Given the description of an element on the screen output the (x, y) to click on. 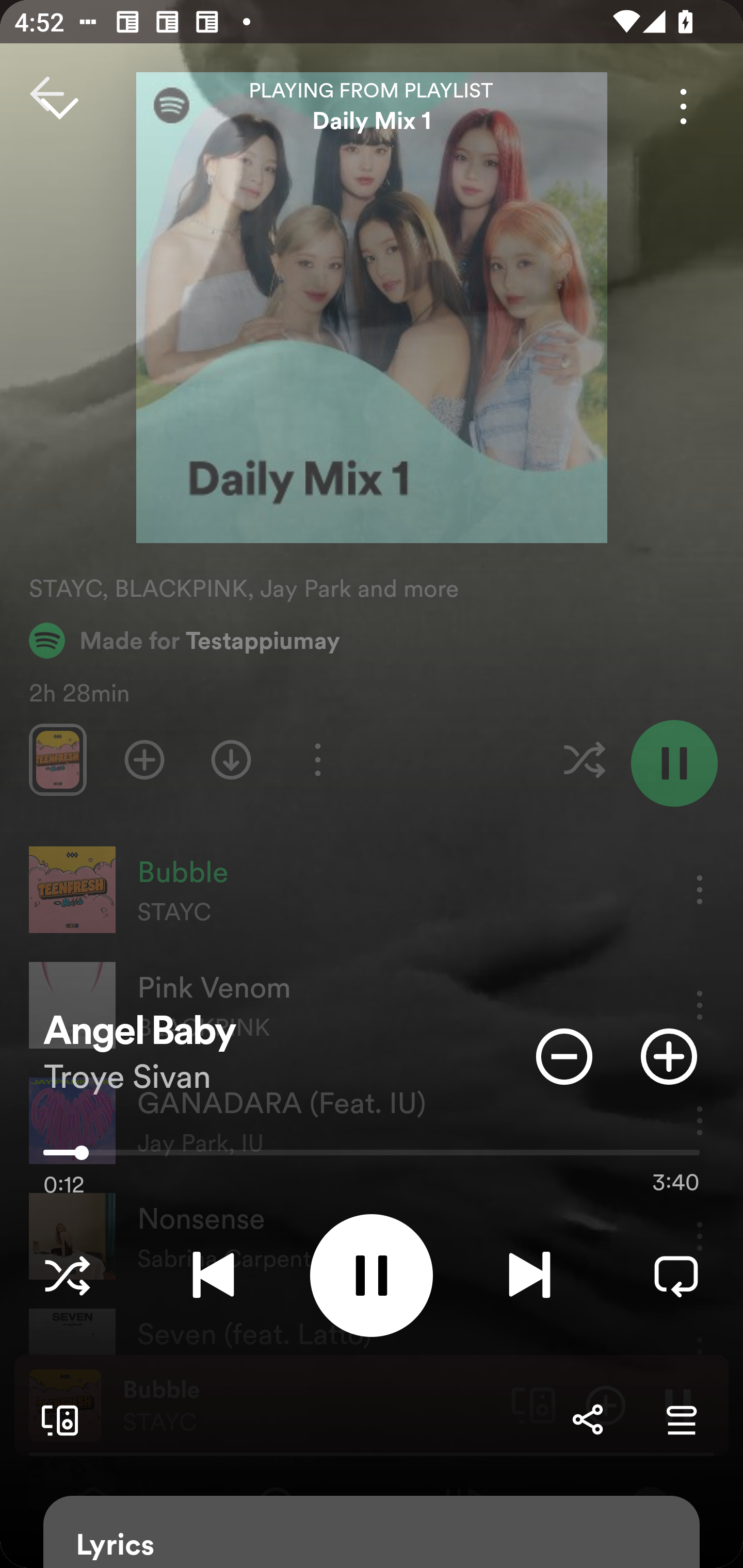
Close (59, 106)
More options for song Angel Baby (683, 106)
PLAYING FROM PLAYLIST Daily Mix 1 (371, 106)
Don't play this (564, 1056)
Add item (669, 1056)
0:12 3:40 12395.0 Use volume keys to adjust (371, 1157)
Pause (371, 1275)
Previous (212, 1275)
Next (529, 1275)
Shuffle tracks (66, 1275)
Repeat (676, 1275)
Share (587, 1419)
Go to Queue (681, 1419)
Connect to a device. Opens the devices menu (55, 1419)
Lyrics (371, 1531)
